Given the description of an element on the screen output the (x, y) to click on. 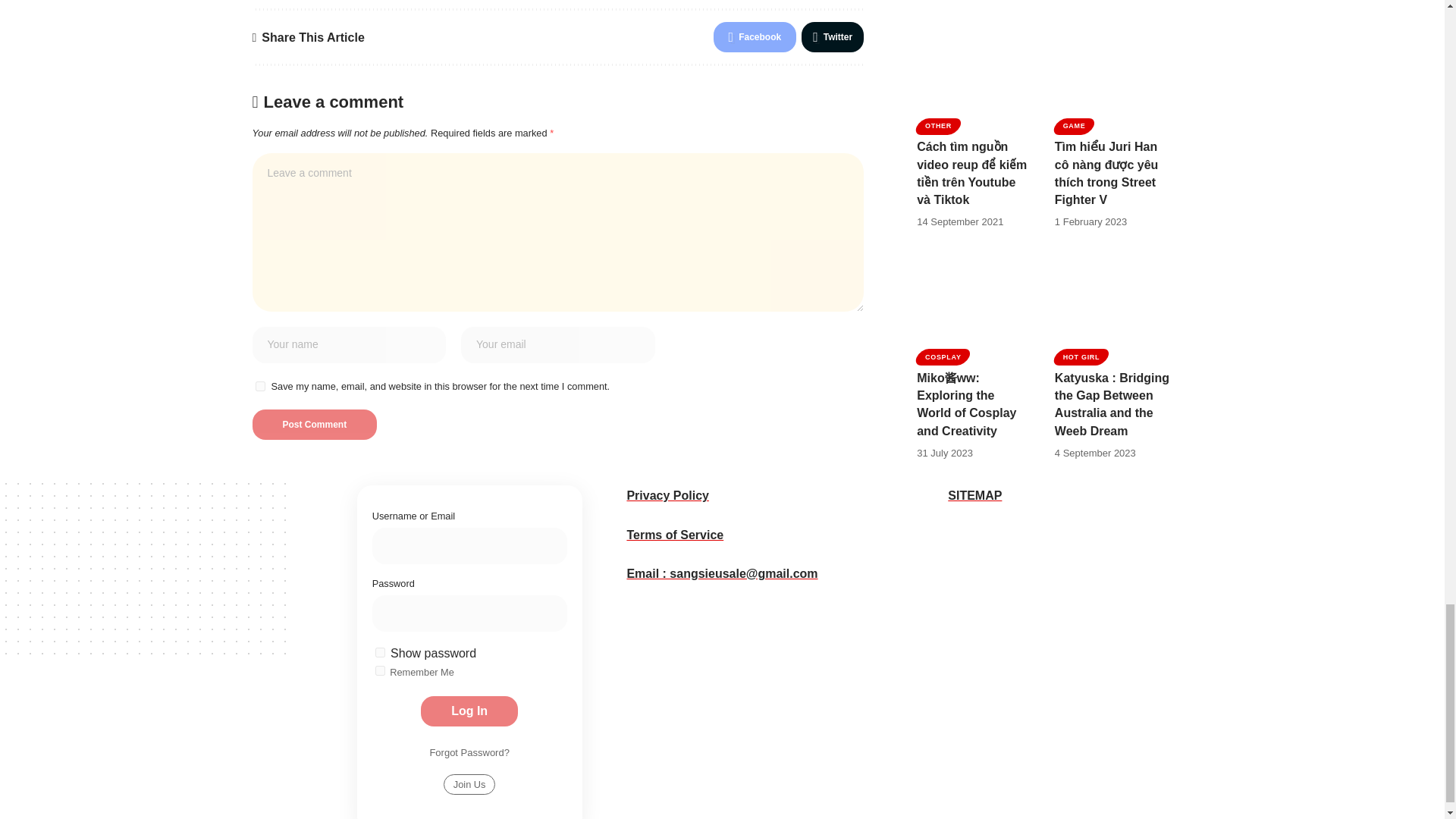
Log In (469, 711)
on (380, 652)
yes (259, 386)
Post Comment (314, 424)
on (380, 670)
